Given the description of an element on the screen output the (x, y) to click on. 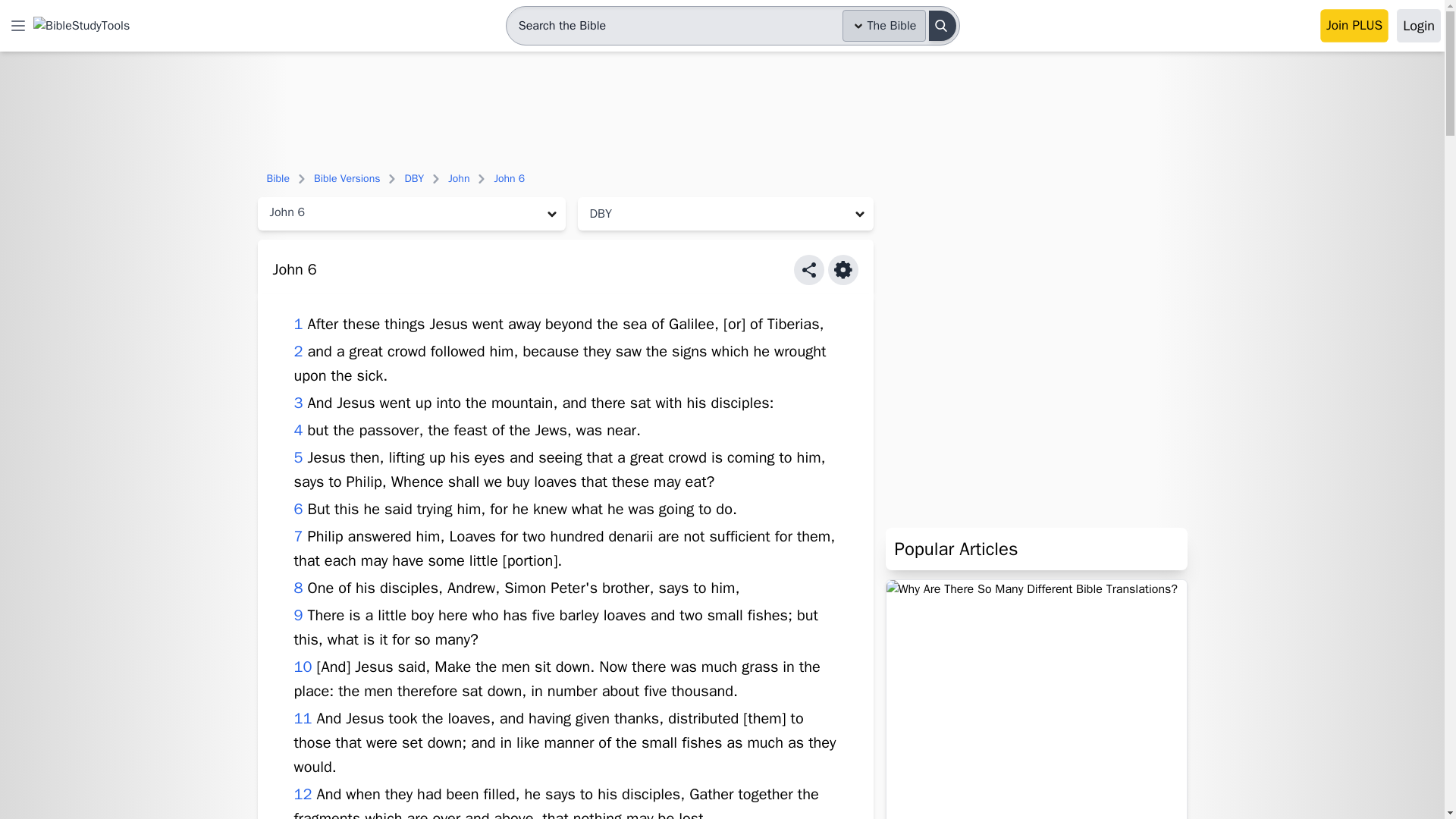
Scripture Settings (843, 269)
Login (1418, 25)
The Bible (884, 25)
Join PLUS (1354, 25)
